Given the description of an element on the screen output the (x, y) to click on. 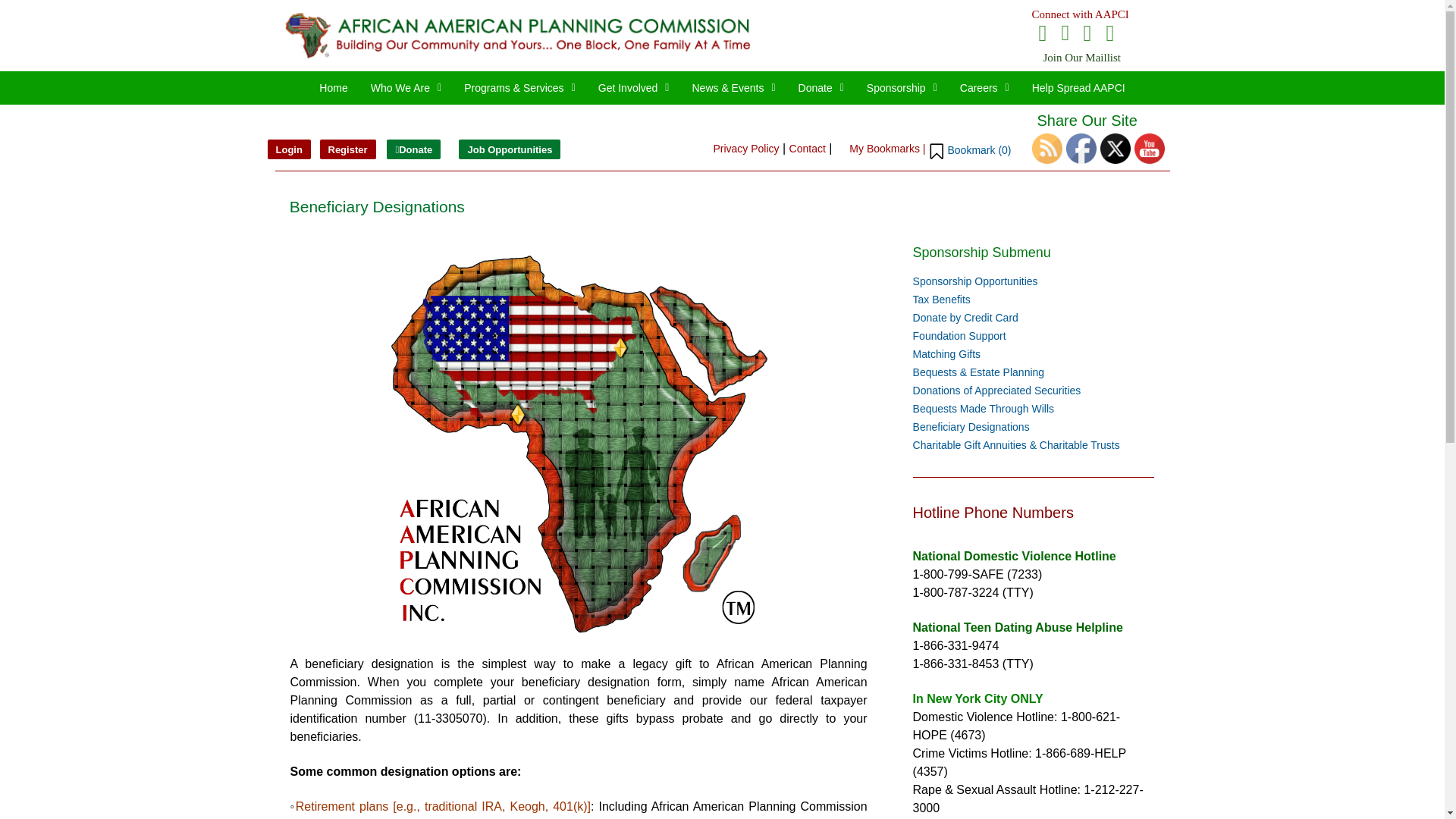
Facebook (1080, 148)
Twitter (1115, 148)
Join Our Maillist (1082, 57)
Bookmark This (969, 150)
Home (332, 87)
Skip to content (11, 31)
Get Involved (633, 87)
RSS (1047, 148)
Who We Are (405, 87)
